Given the description of an element on the screen output the (x, y) to click on. 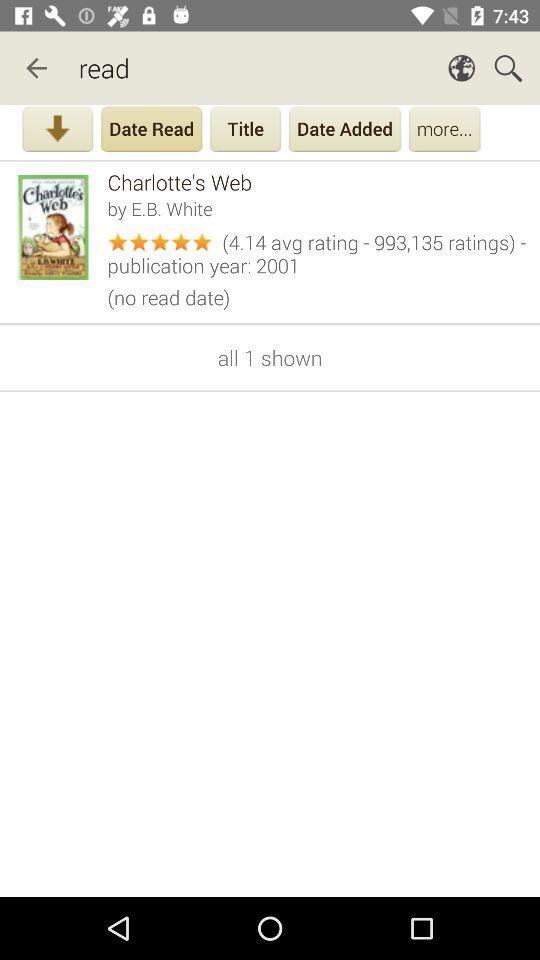
launch the 4 14 avg (316, 251)
